Given the description of an element on the screen output the (x, y) to click on. 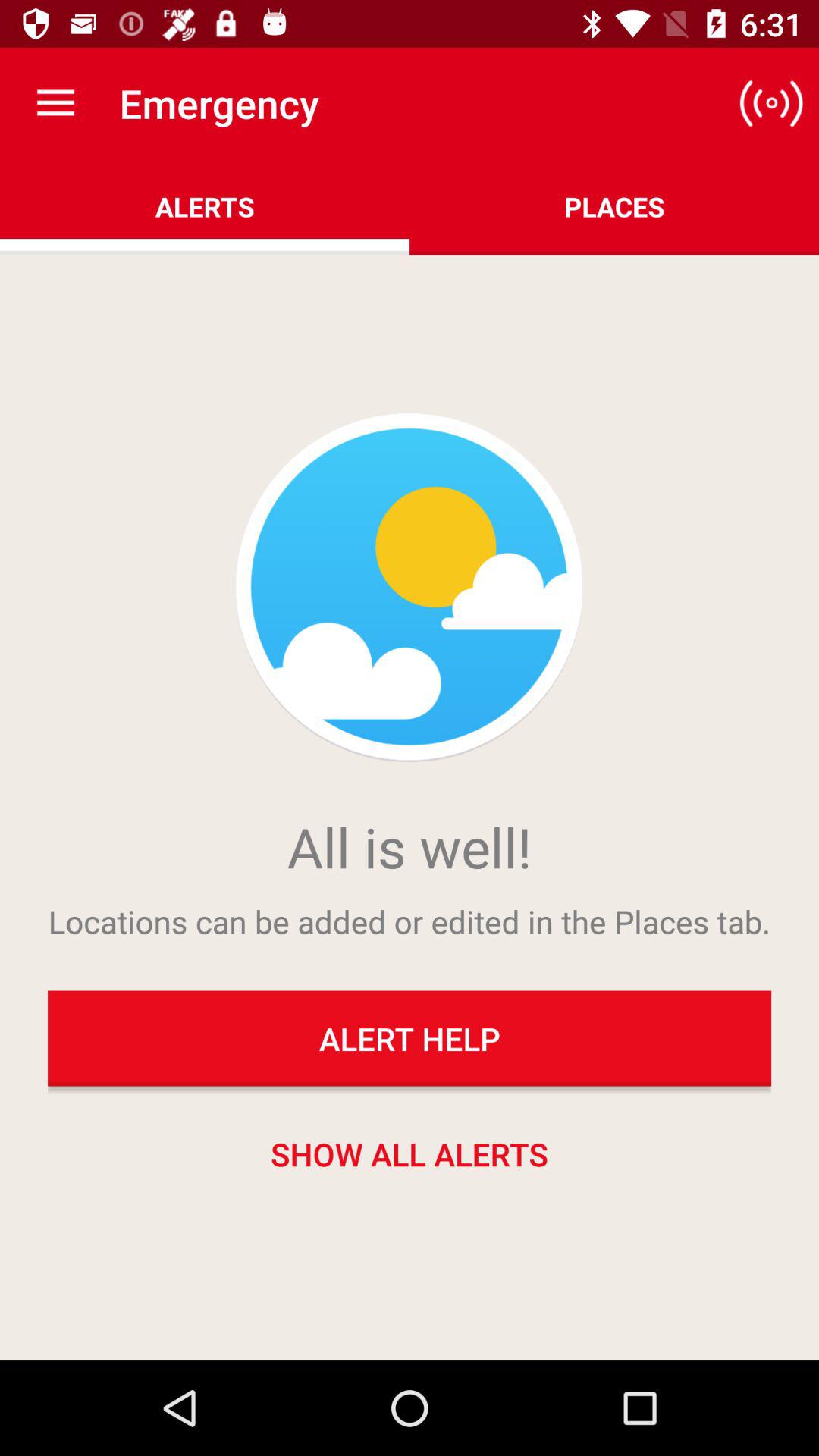
turn off the alert help item (409, 1038)
